Given the description of an element on the screen output the (x, y) to click on. 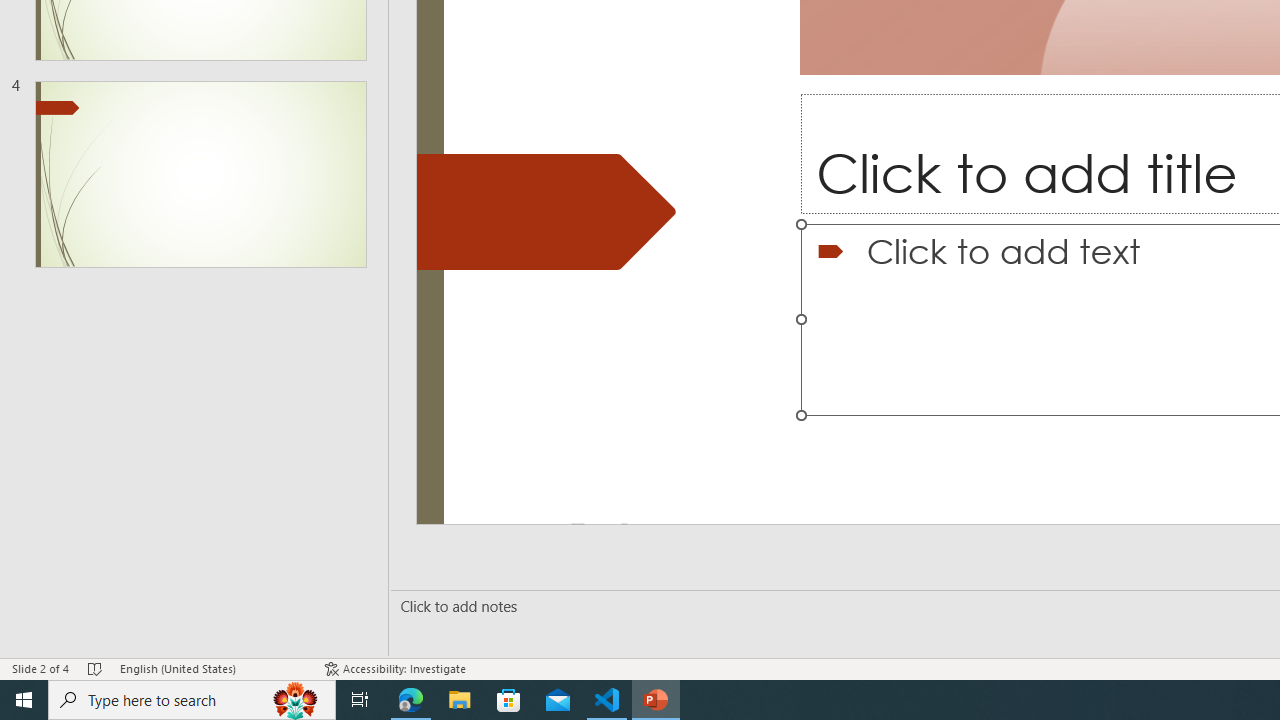
Decorative Locked (546, 212)
